Given the description of an element on the screen output the (x, y) to click on. 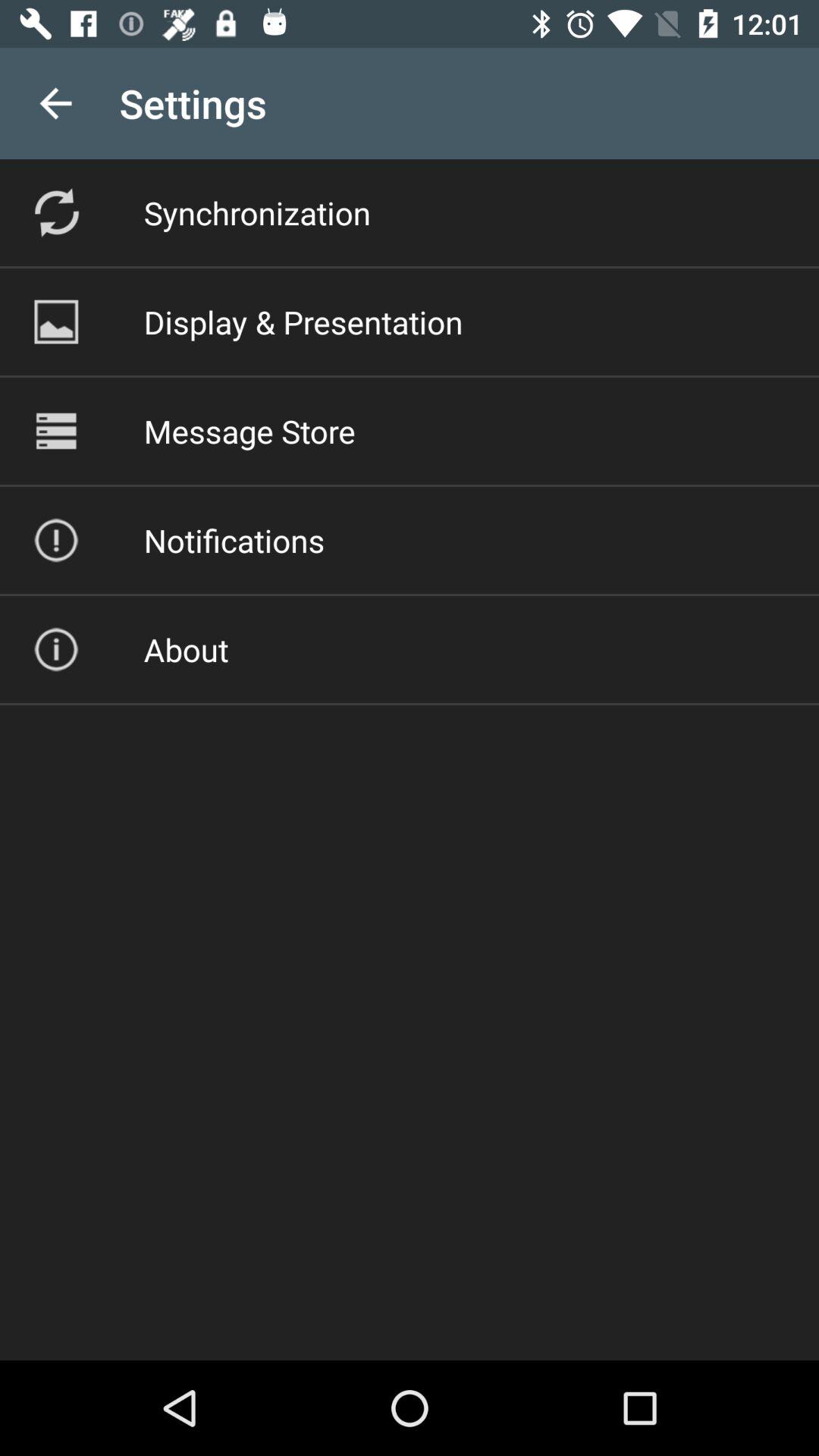
turn on the item above display & presentation (256, 212)
